Given the description of an element on the screen output the (x, y) to click on. 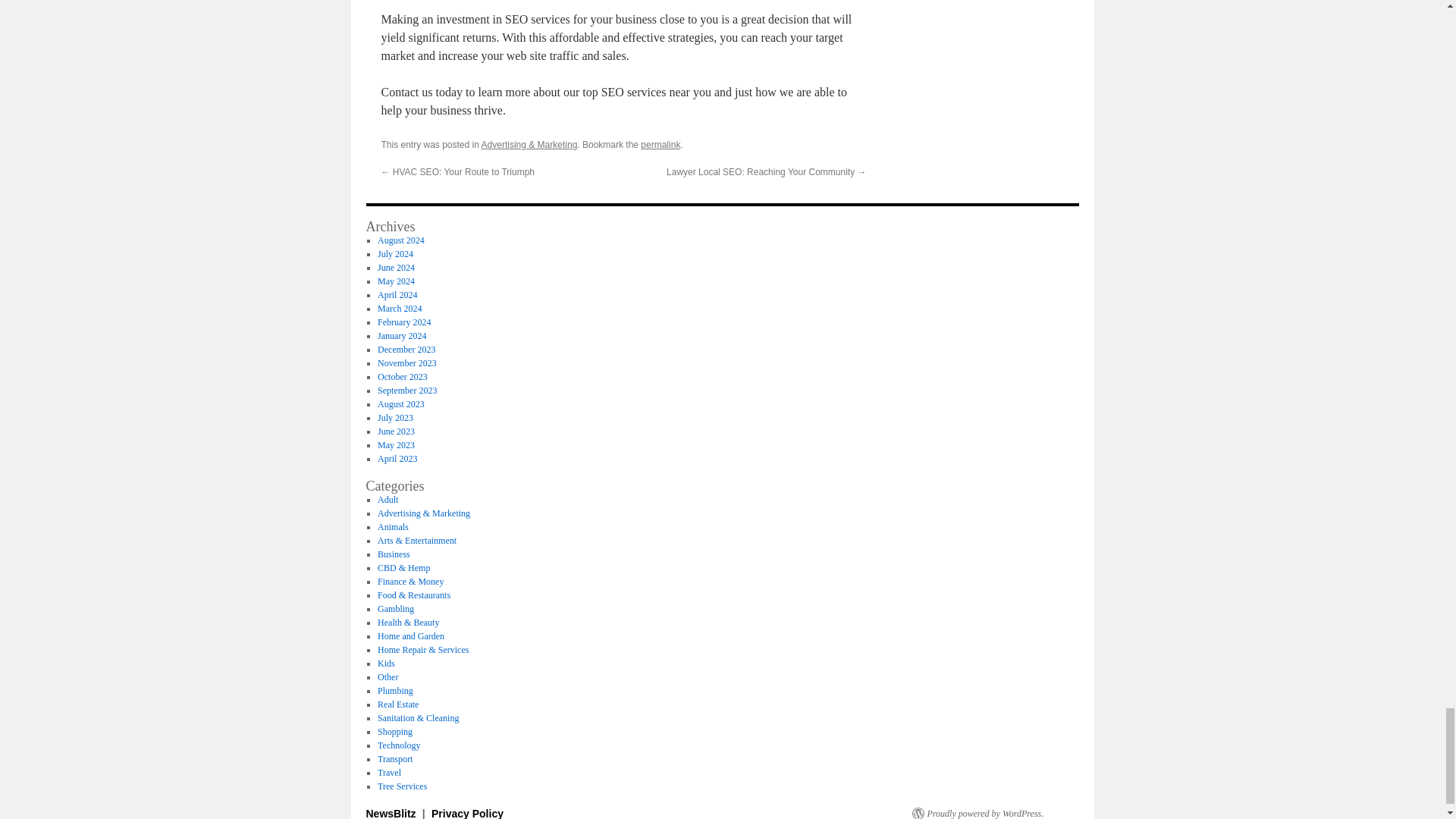
November 2023 (406, 362)
February 2024 (403, 321)
October 2023 (402, 376)
Adult (387, 499)
Animals (393, 526)
September 2023 (406, 389)
May 2023 (395, 444)
January 2024 (401, 335)
March 2024 (399, 308)
July 2023 (395, 417)
